Given the description of an element on the screen output the (x, y) to click on. 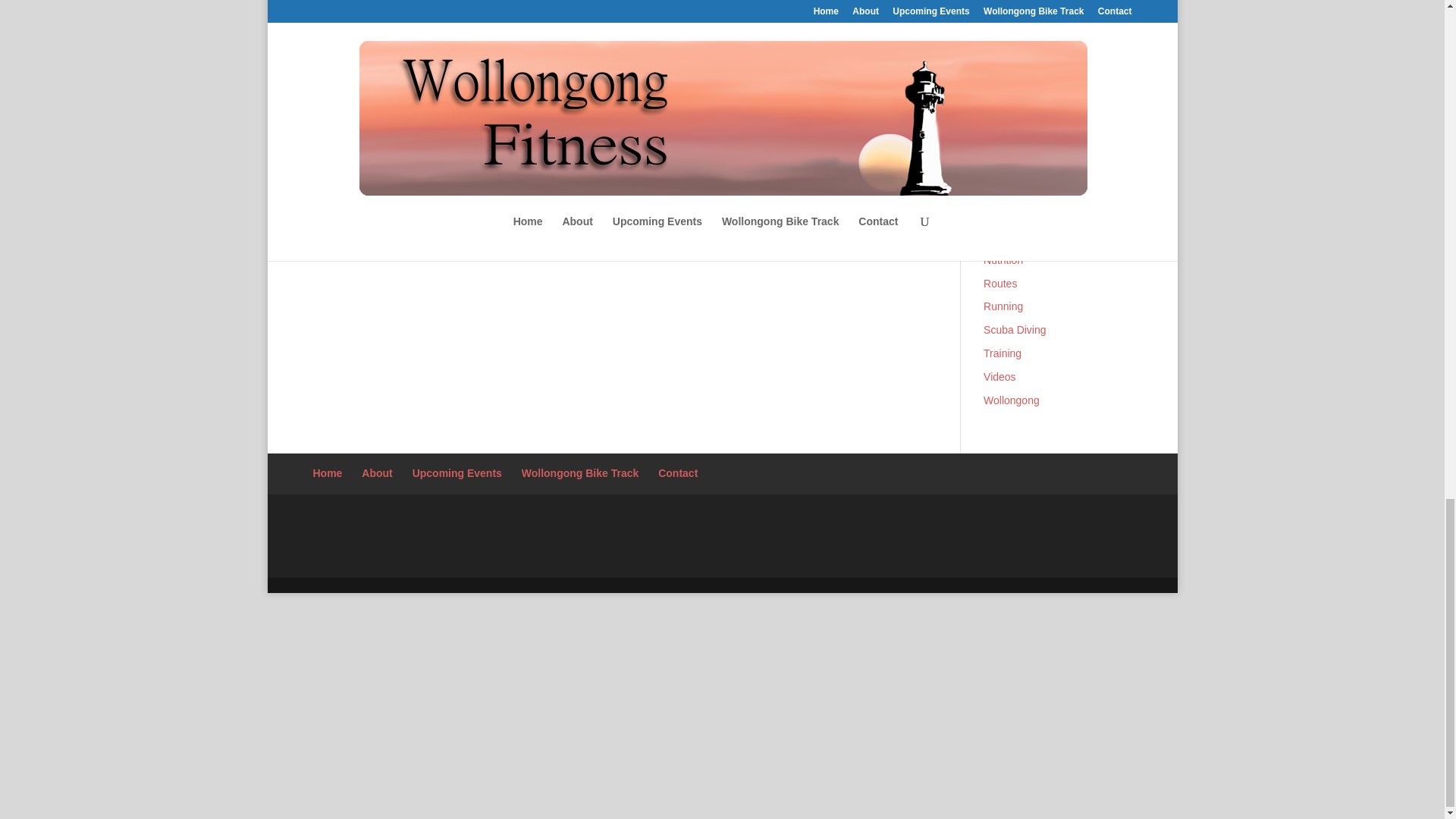
Click to email a link to a friend (493, 150)
Click to share on Twitter (427, 150)
Facebook (350, 150)
Email (493, 150)
Click to share on Facebook (350, 150)
Twitter (427, 150)
